Given the description of an element on the screen output the (x, y) to click on. 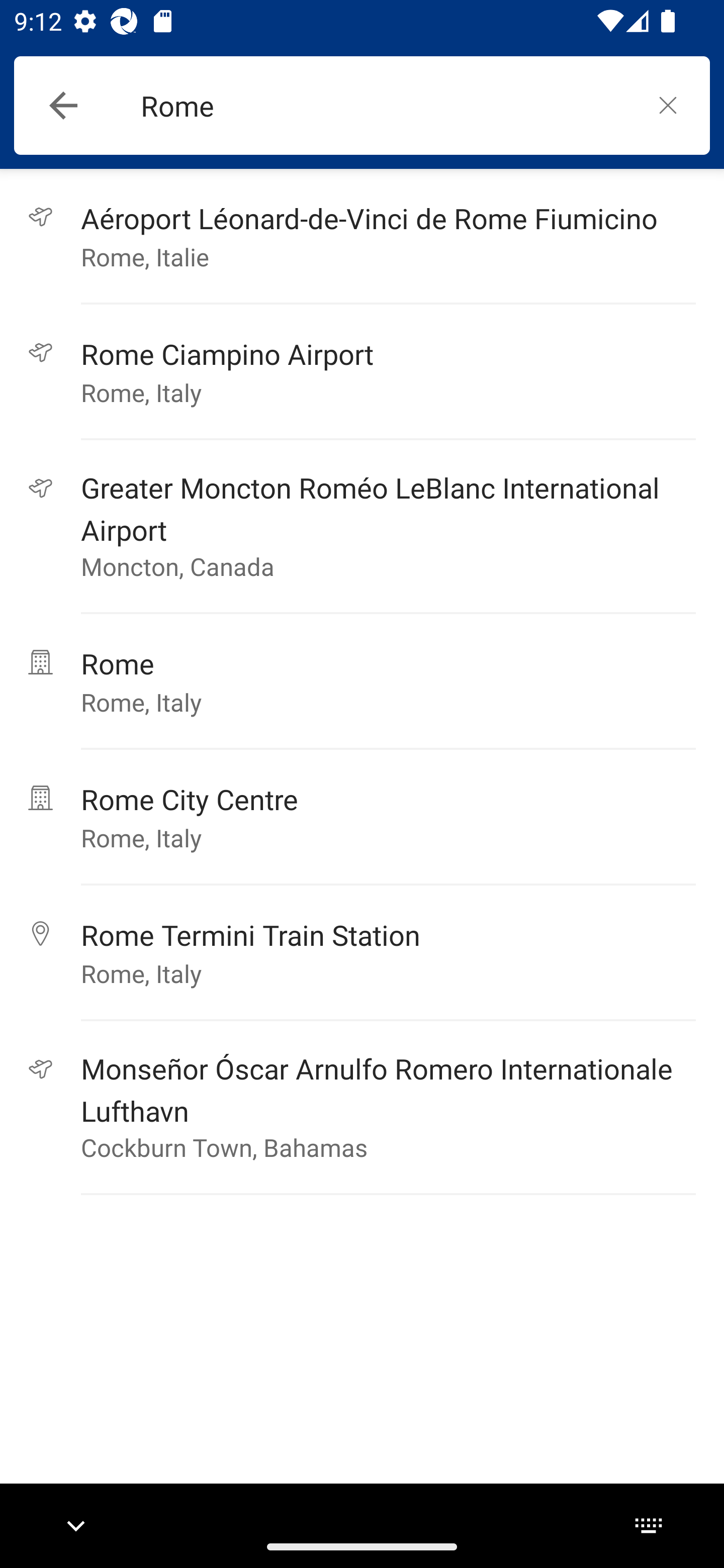
Navigate up (62, 105)
놕 (667, 104)
Rome (382, 105)
끭 Rome Ciampino Airport Rome, Italy (362, 372)
넭 Rome Rome, Italy (362, 681)
넭 Rome City Centre Rome, Italy (362, 817)
낍 Rome Termini Train Station Rome, Italy (362, 952)
